Given the description of an element on the screen output the (x, y) to click on. 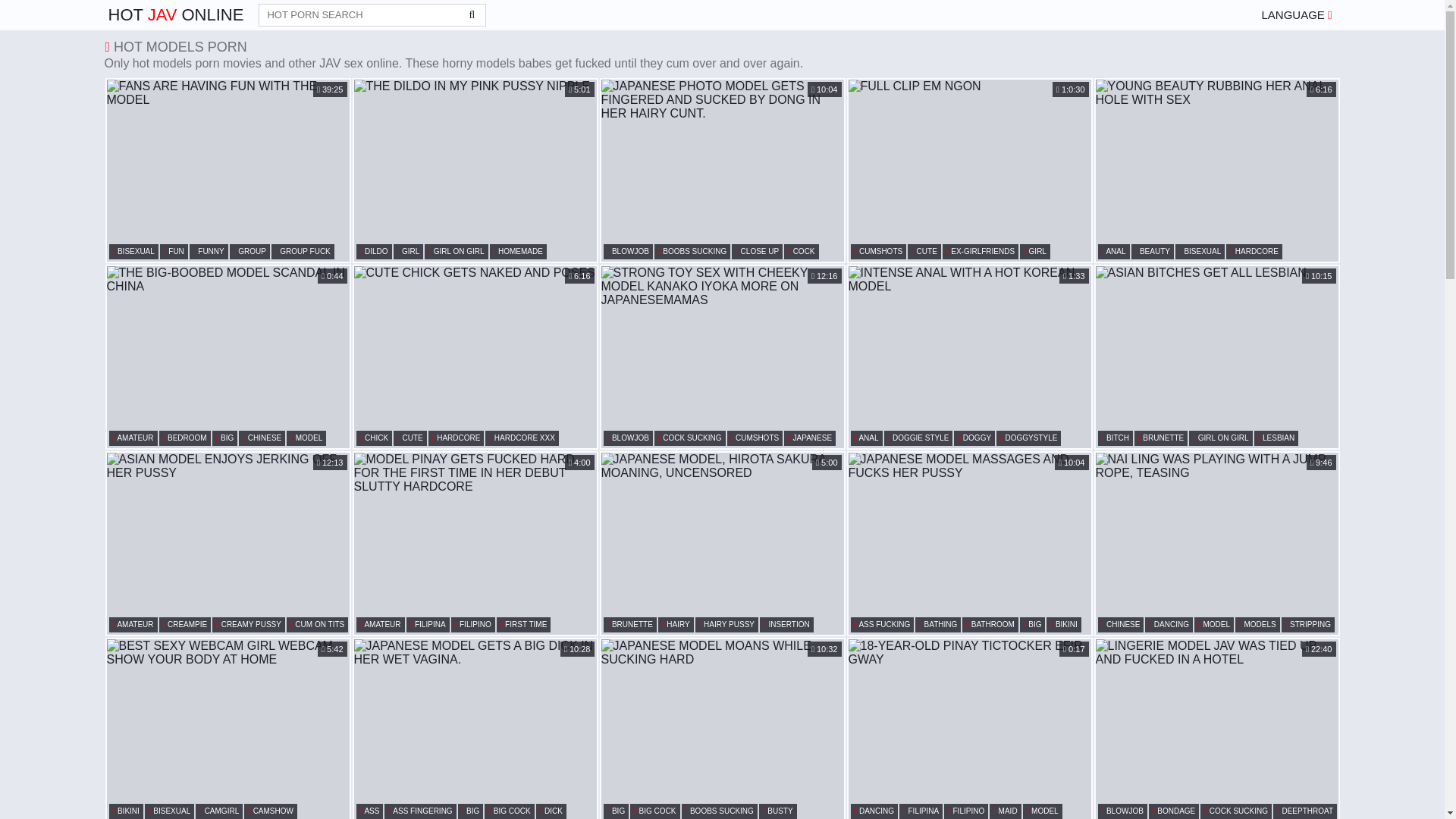
Japanese model moans while sucking hard (721, 729)
18-year-old Pinay TicTocker EFIR GWAY (968, 729)
The big-boobed model scandal in China (227, 356)
Japanese model gets a big dick in her wet vagina. (474, 729)
Japanese model massages and fucks her pussy (968, 543)
Asian bitches get all lesbian. (1216, 356)
BISEXUAL (133, 251)
Young beauty rubbing her anal hole with sex (1216, 170)
HOT JAV ONLINE (175, 15)
